Given the description of an element on the screen output the (x, y) to click on. 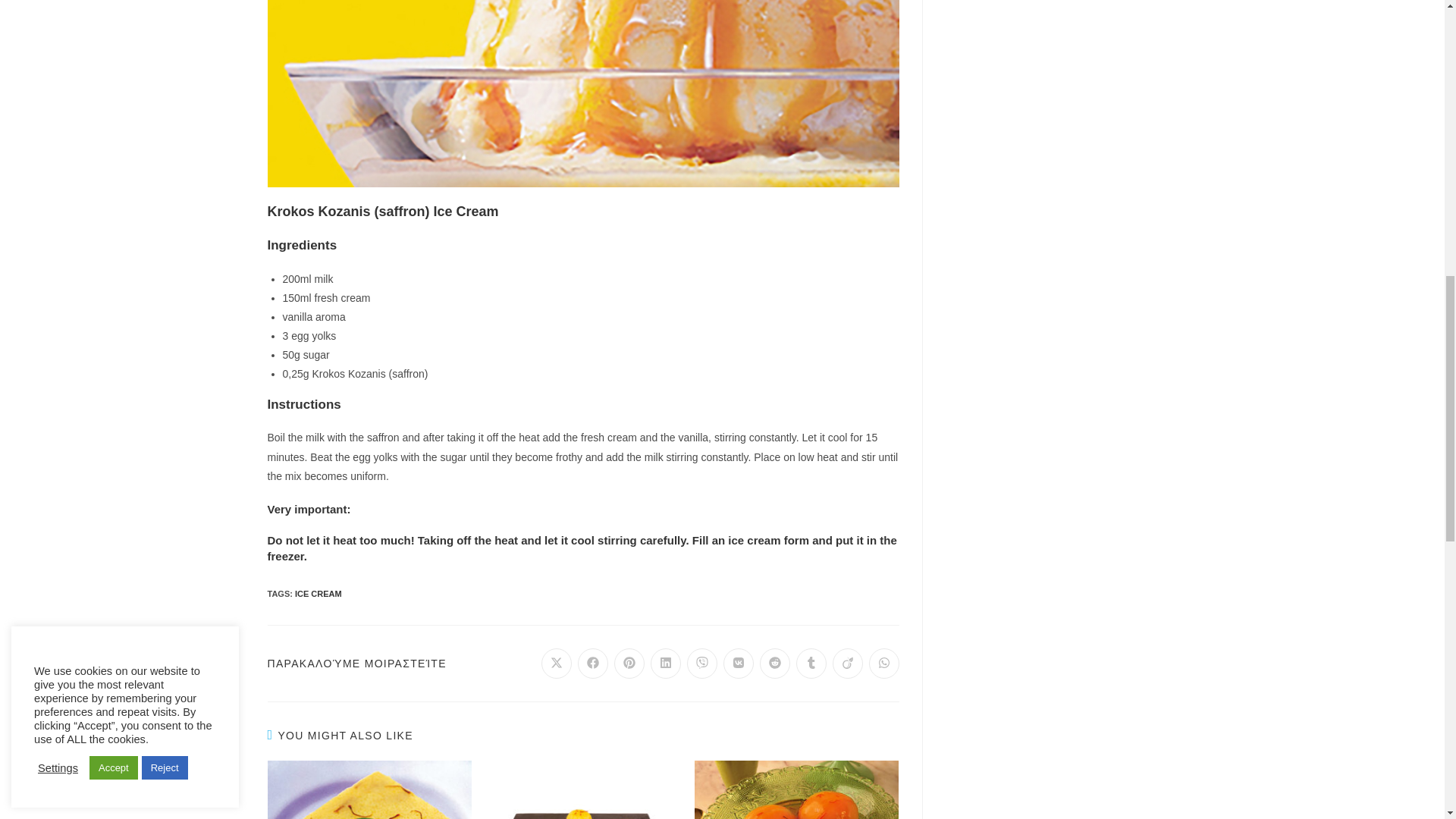
ICE CREAM (318, 593)
